Given the description of an element on the screen output the (x, y) to click on. 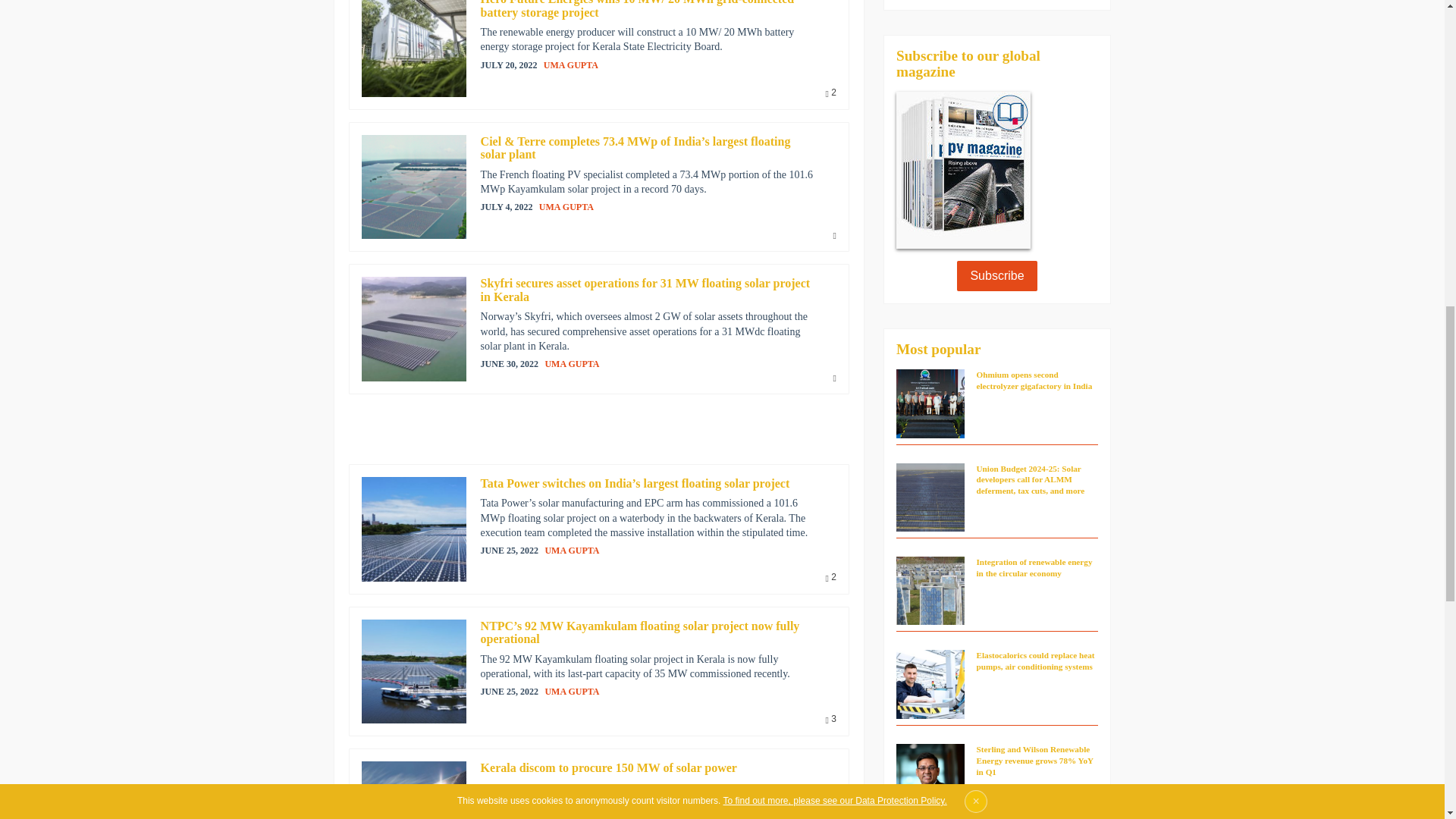
Monday, July 4, 2022, 12:29 pm (506, 206)
Saturday, June 25, 2022, 5:56 pm (509, 550)
Posts by Uma Gupta (570, 64)
Thursday, June 30, 2022, 3:05 pm (509, 364)
Wednesday, July 20, 2022, 12:08 am (508, 65)
Posts by Uma Gupta (566, 206)
Posts by Uma Gupta (571, 550)
Posts by Uma Gupta (571, 363)
